Given the description of an element on the screen output the (x, y) to click on. 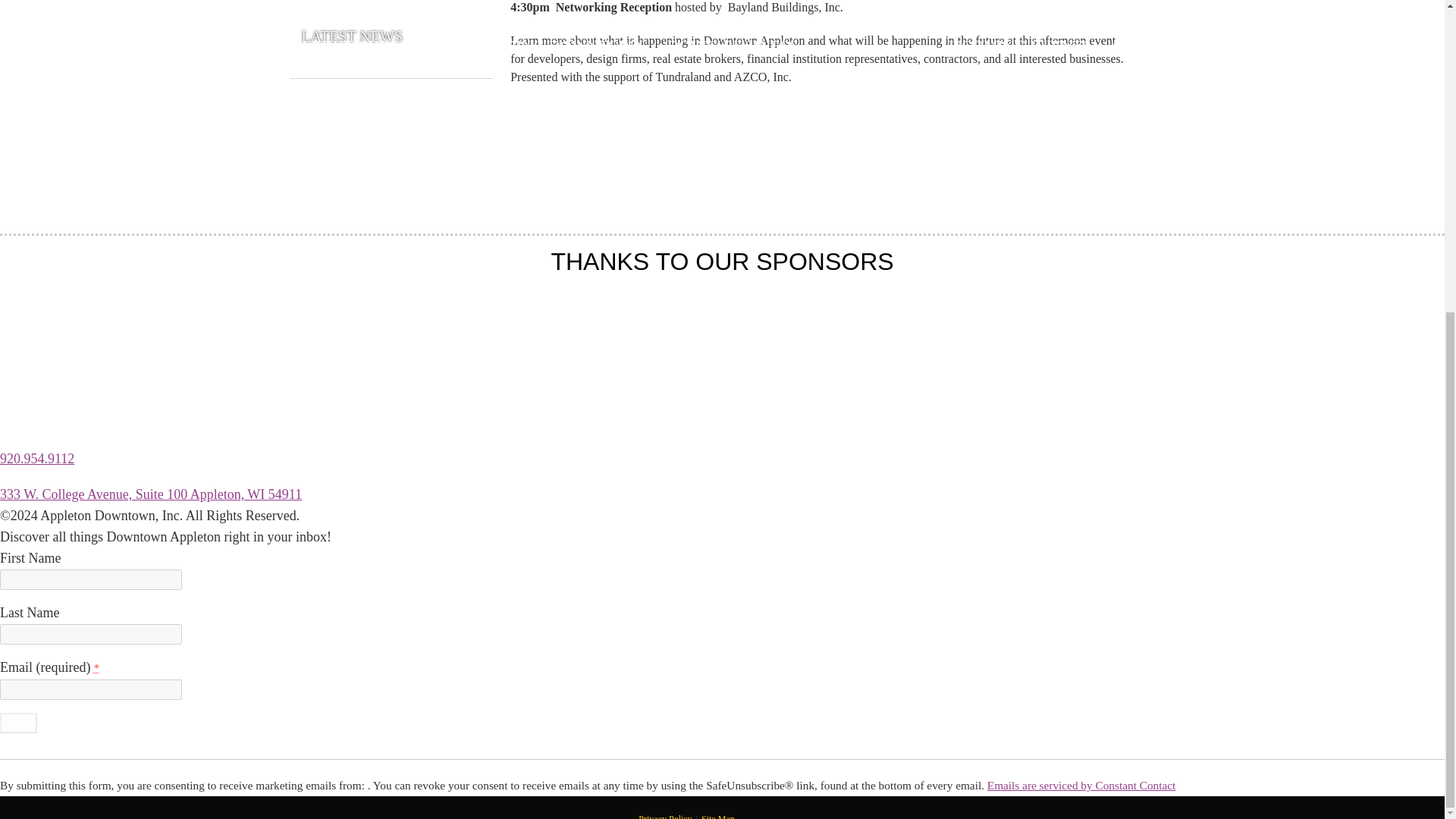
GO! (18, 722)
